Given the description of an element on the screen output the (x, y) to click on. 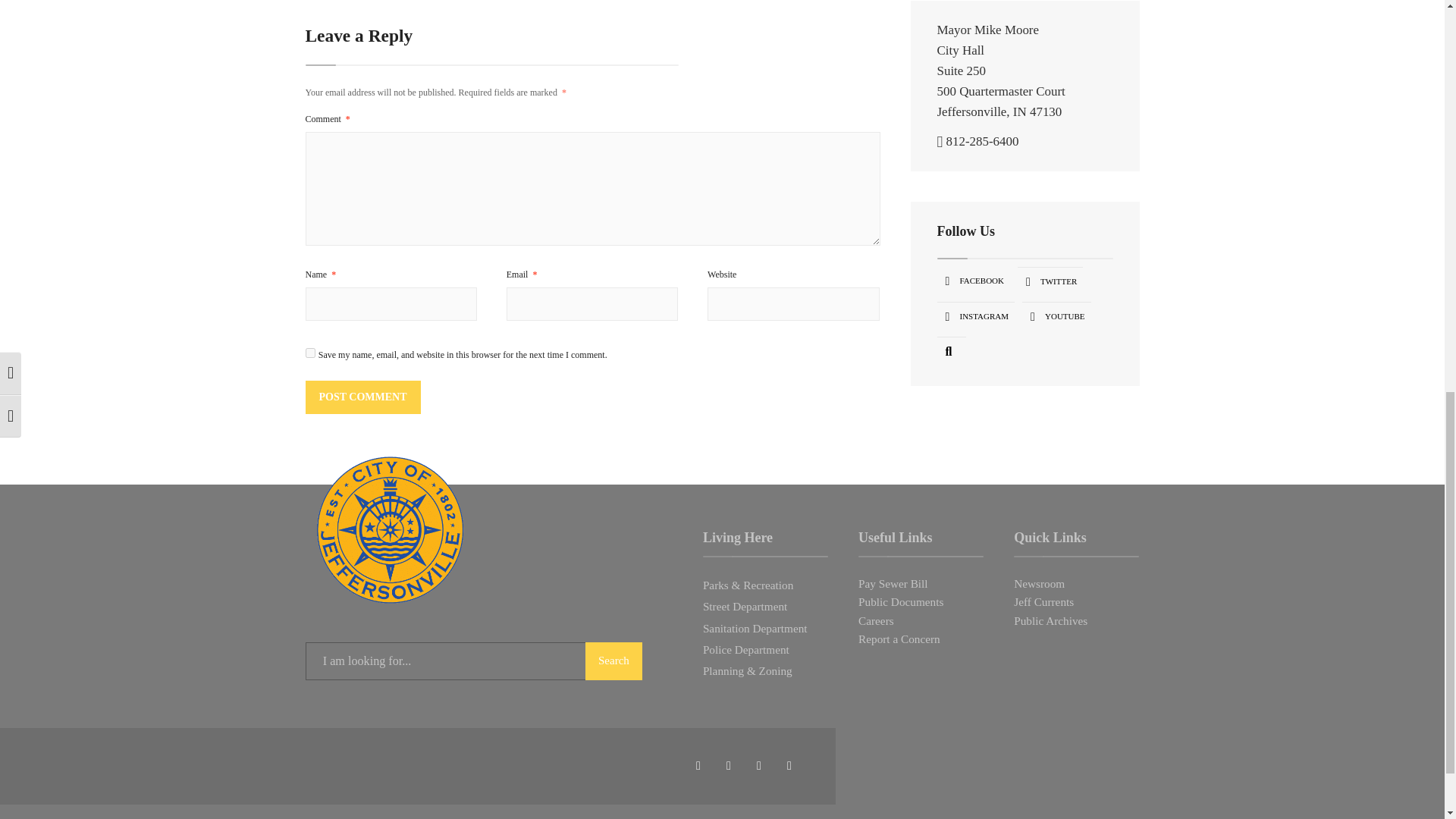
I am looking for... (473, 661)
yes (309, 352)
Post Comment (362, 397)
